Given the description of an element on the screen output the (x, y) to click on. 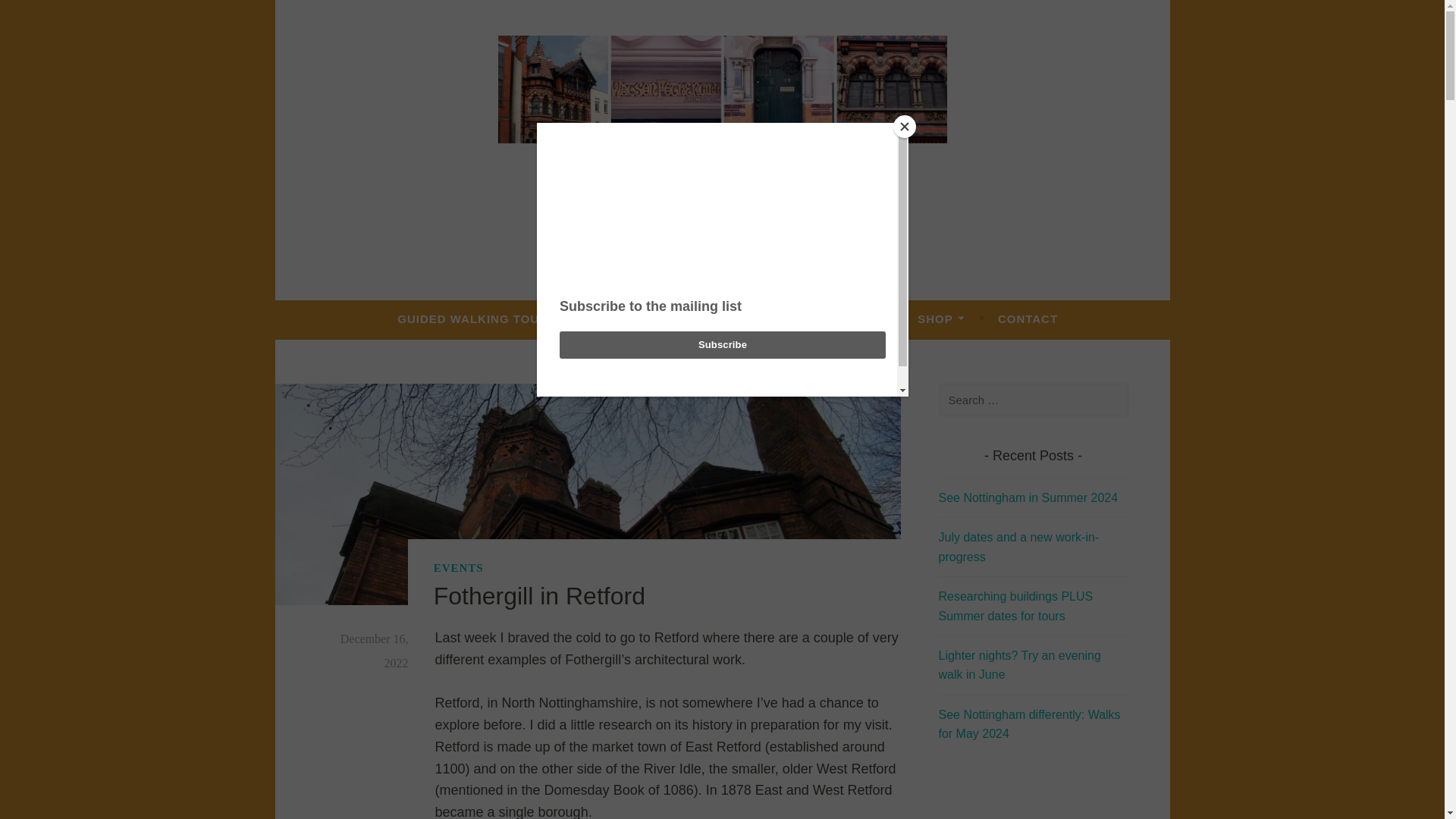
Watson Fothergill Walk (722, 178)
SHOP (940, 318)
MAKE A BOOKING (821, 318)
CONTACT (1027, 318)
Instagram (739, 249)
GUIDED WALKING TOURS (482, 318)
ABOUT (629, 318)
Tripadvisor (772, 249)
Twitter (705, 249)
December 16, 2022 (374, 650)
NEWS (709, 318)
EVENTS (458, 568)
Facebook (670, 249)
